Given the description of an element on the screen output the (x, y) to click on. 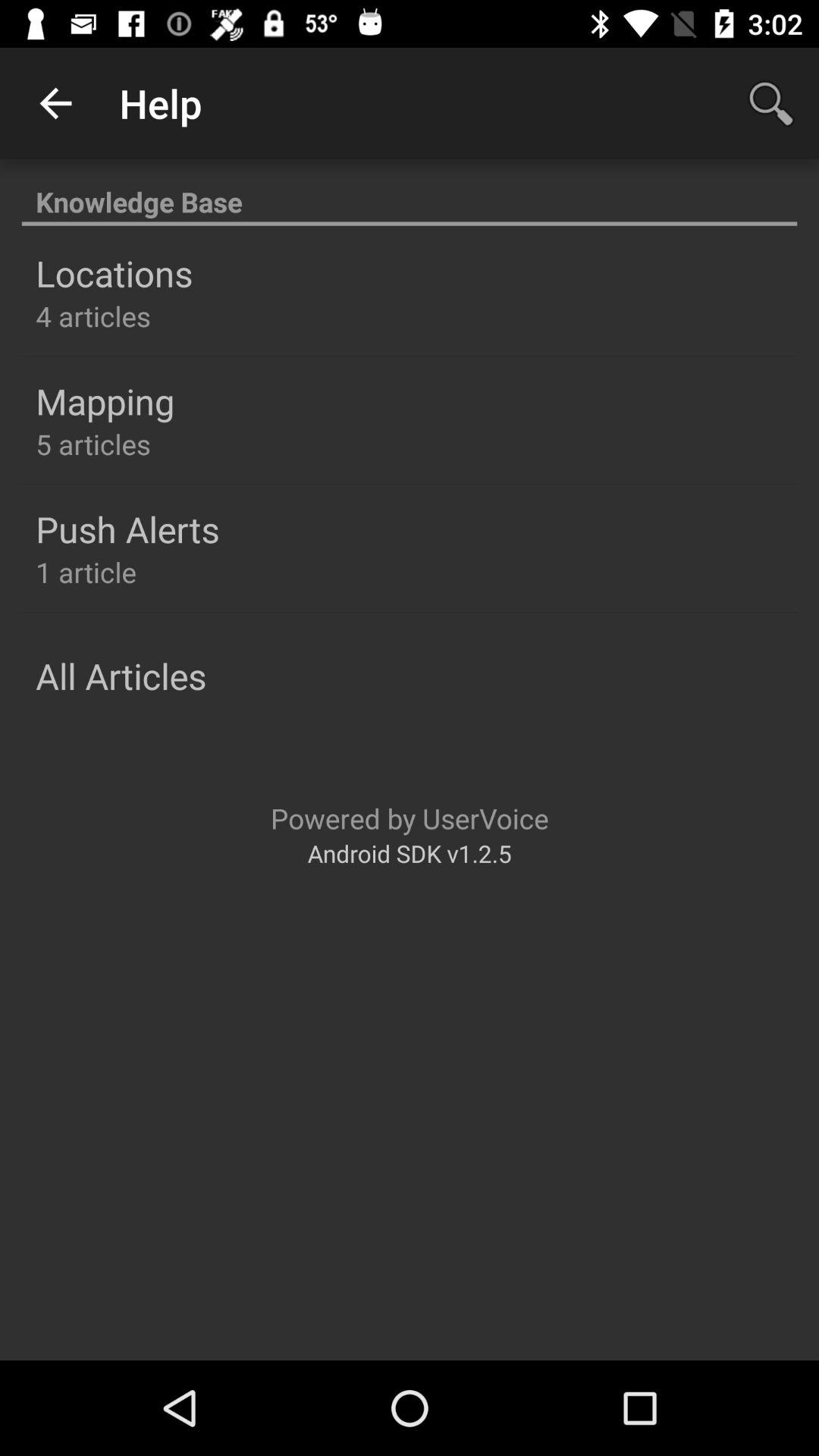
swipe to the mapping item (104, 401)
